Given the description of an element on the screen output the (x, y) to click on. 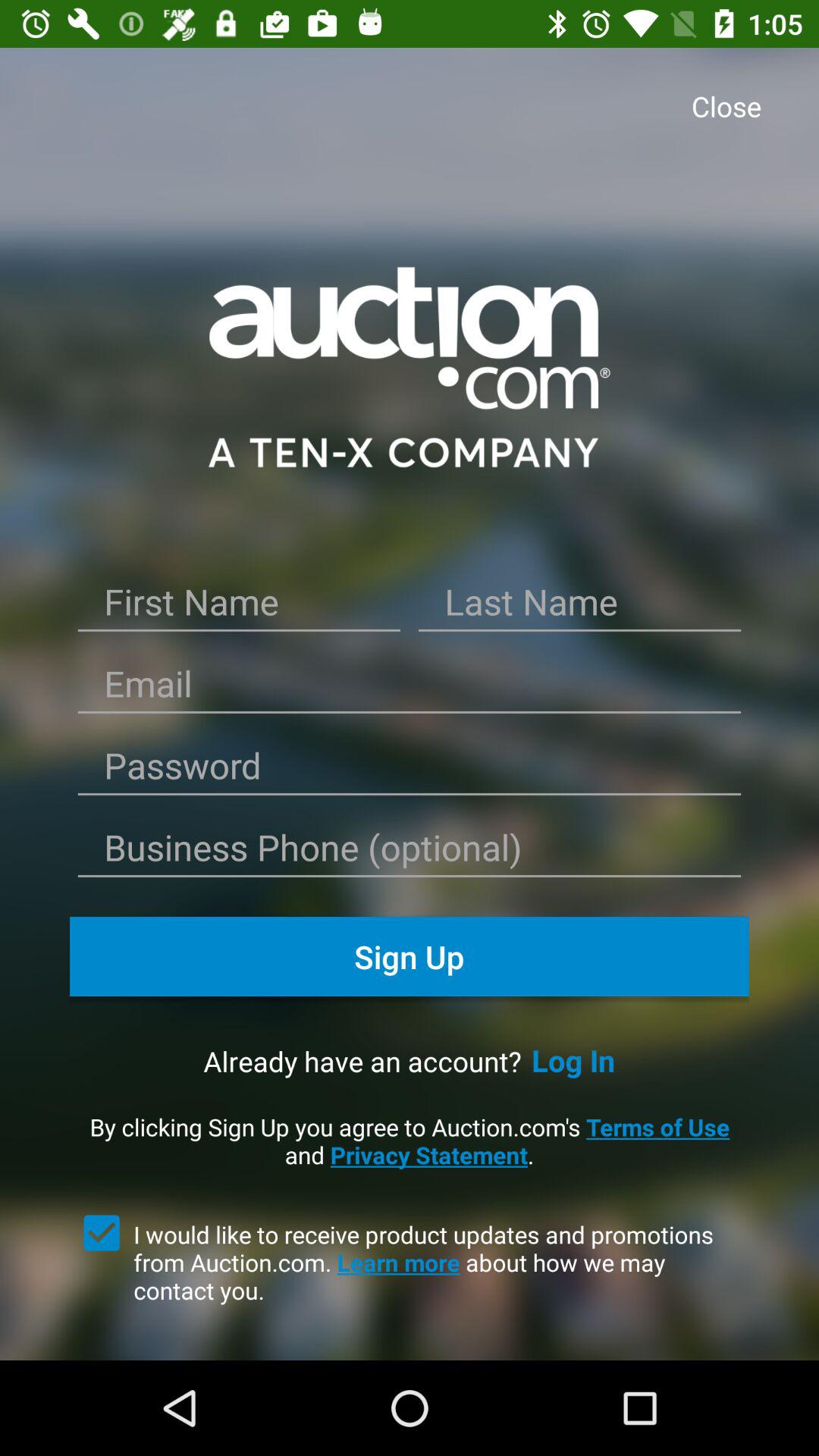
agree to terms (101, 1232)
